Given the description of an element on the screen output the (x, y) to click on. 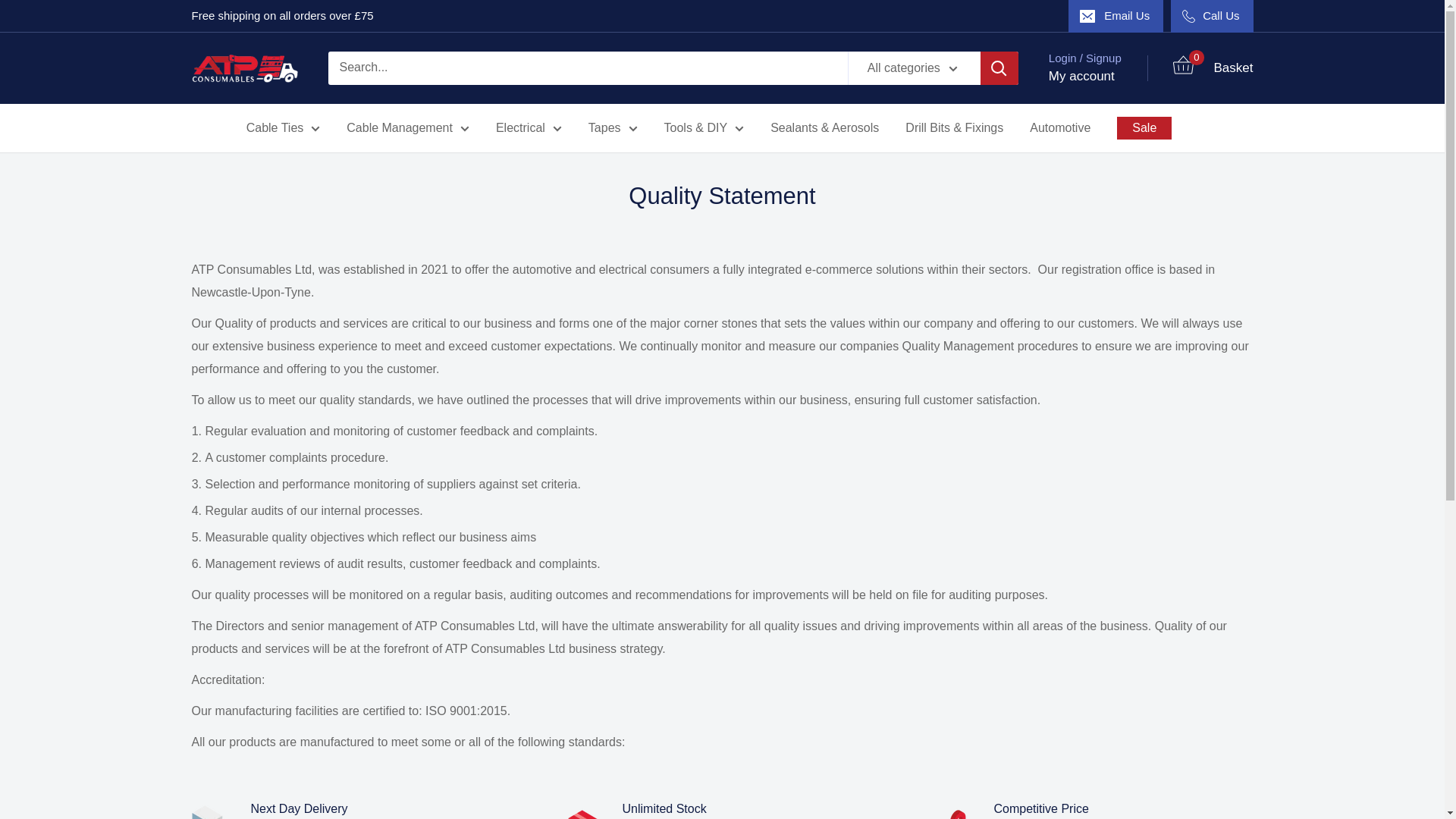
Email Us (1115, 15)
Call Us (1211, 15)
